Given the description of an element on the screen output the (x, y) to click on. 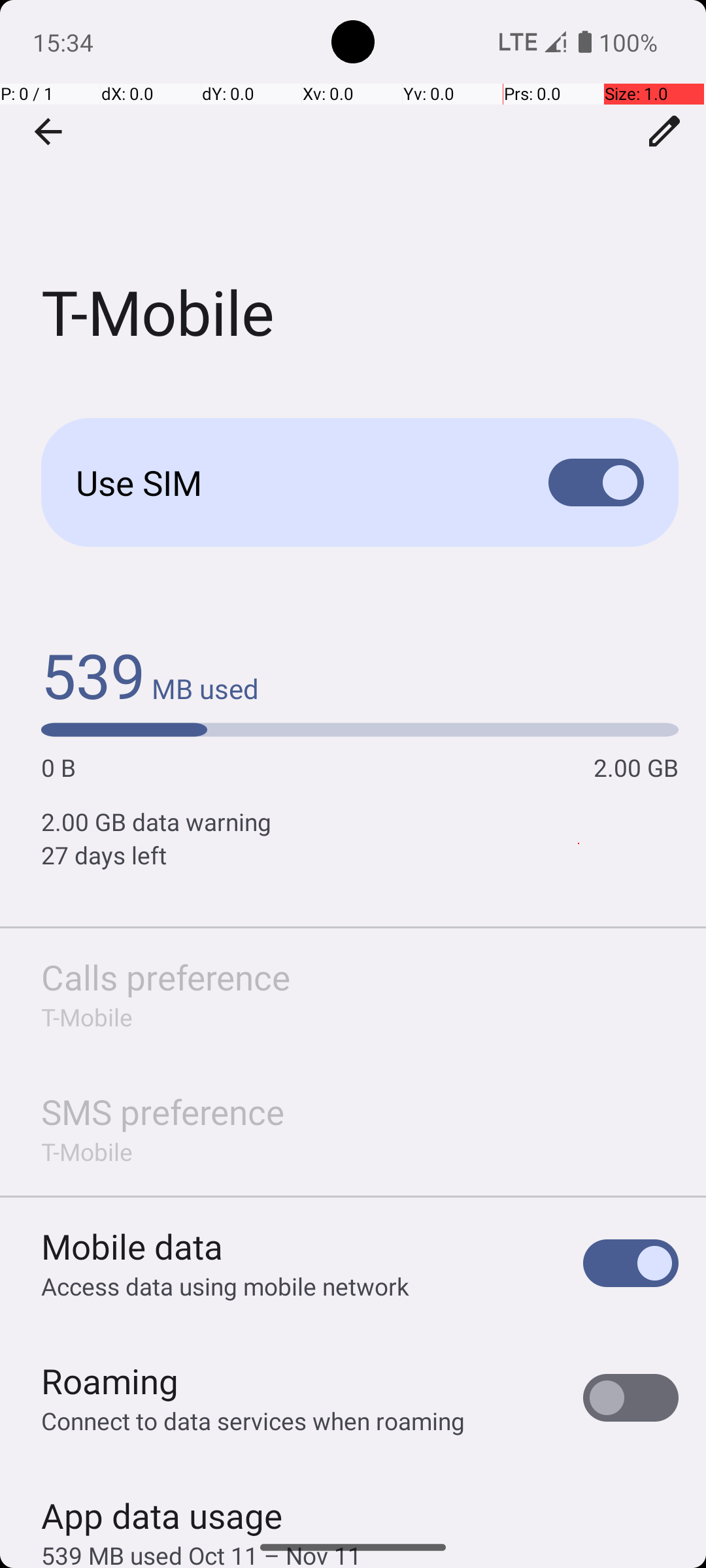
SIM name & color Element type: android.widget.TextView (664, 131)
Use SIM Element type: android.widget.TextView (291, 482)
539 MB used Element type: android.widget.TextView (149, 674)
2.00 GB Element type: android.widget.TextView (635, 767)
2.00 GB data warning Element type: android.widget.TextView (359, 821)
27 days left Element type: android.widget.TextView (359, 854)
Calls preference Element type: android.widget.TextView (165, 976)
SMS preference Element type: android.widget.TextView (163, 1111)
Mobile data Element type: android.widget.TextView (131, 1246)
Access data using mobile network Element type: android.widget.TextView (225, 1285)
Roaming Element type: android.widget.TextView (109, 1380)
Connect to data services when roaming Element type: android.widget.TextView (252, 1420)
App data usage Element type: android.widget.TextView (161, 1509)
